Given the description of an element on the screen output the (x, y) to click on. 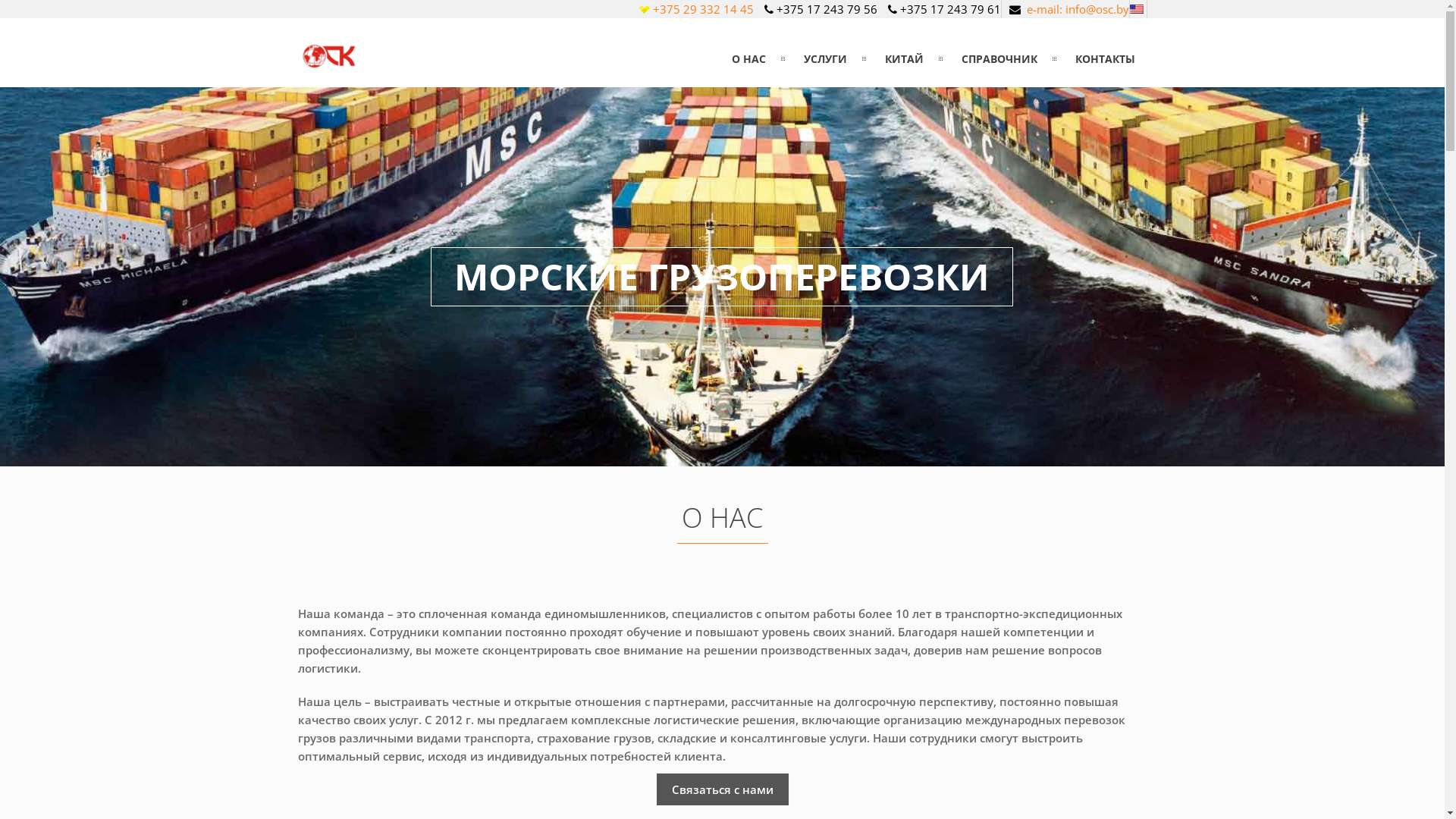
+375 29 332 14 45 Element type: text (702, 8)
e-mail: info@osc.by Element type: text (1077, 8)
